Given the description of an element on the screen output the (x, y) to click on. 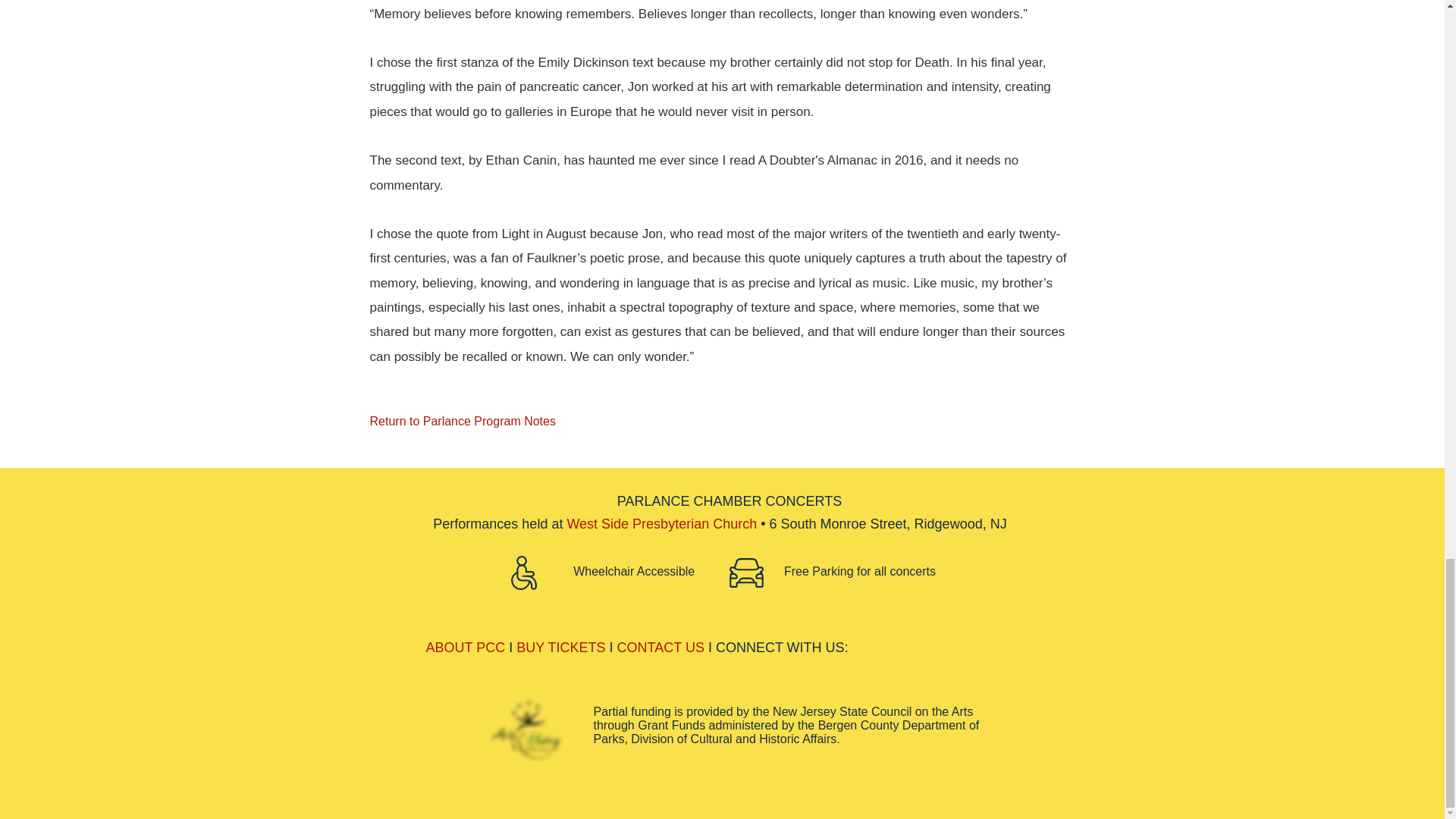
CONTACT US (660, 647)
West Side Presbyterian Church (661, 523)
Return to Parlance Program Notes (471, 421)
BUY TICKETS (560, 647)
ABOUT PCC (465, 647)
